Given the description of an element on the screen output the (x, y) to click on. 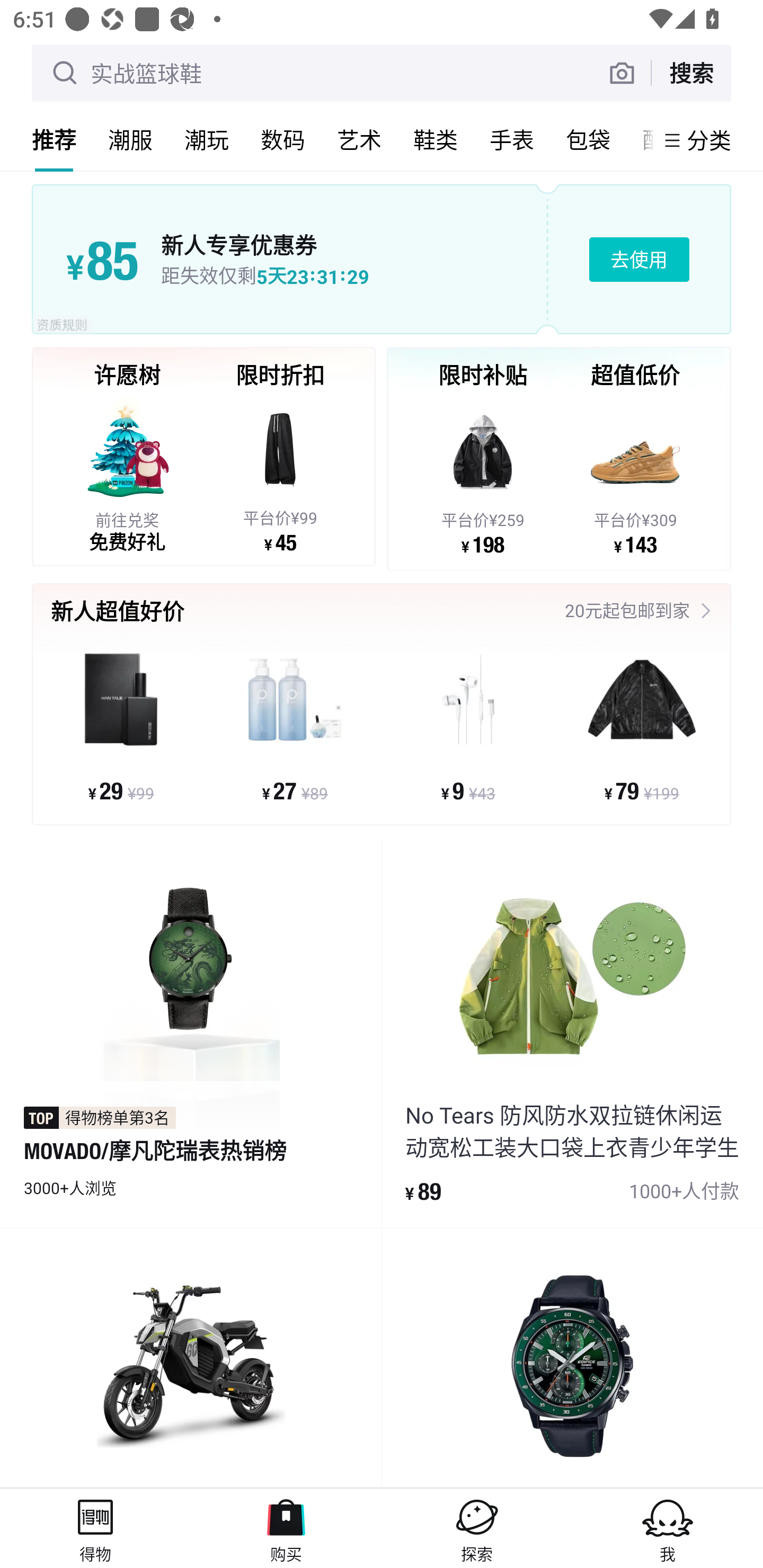
搜索 (690, 72)
推荐 (54, 139)
潮服 (130, 139)
潮玩 (206, 139)
数码 (282, 139)
艺术 (359, 139)
鞋类 (435, 139)
手表 (511, 139)
包袋 (588, 139)
分类 (708, 139)
平台价¥99 ¥ 45 (279, 473)
前往兑奖 免费好礼 (127, 474)
平台价¥259 ¥ 198 (482, 476)
平台价¥309 ¥ 143 (635, 476)
¥ 29 ¥99 (121, 726)
¥ 27 ¥89 (294, 726)
¥ 9 ¥43 (468, 726)
¥ 79 ¥199 (641, 726)
得物榜单第3名 MOVADO/摩凡陀瑞表热销榜 3000+人浏览 (190, 1032)
product_item 摩兽 TROMOX新国标 Pesgo one
长续航智能电瓶车 电动自行车 (190, 1357)
得物 (95, 1528)
购买 (285, 1528)
探索 (476, 1528)
我 (667, 1528)
